Given the description of an element on the screen output the (x, y) to click on. 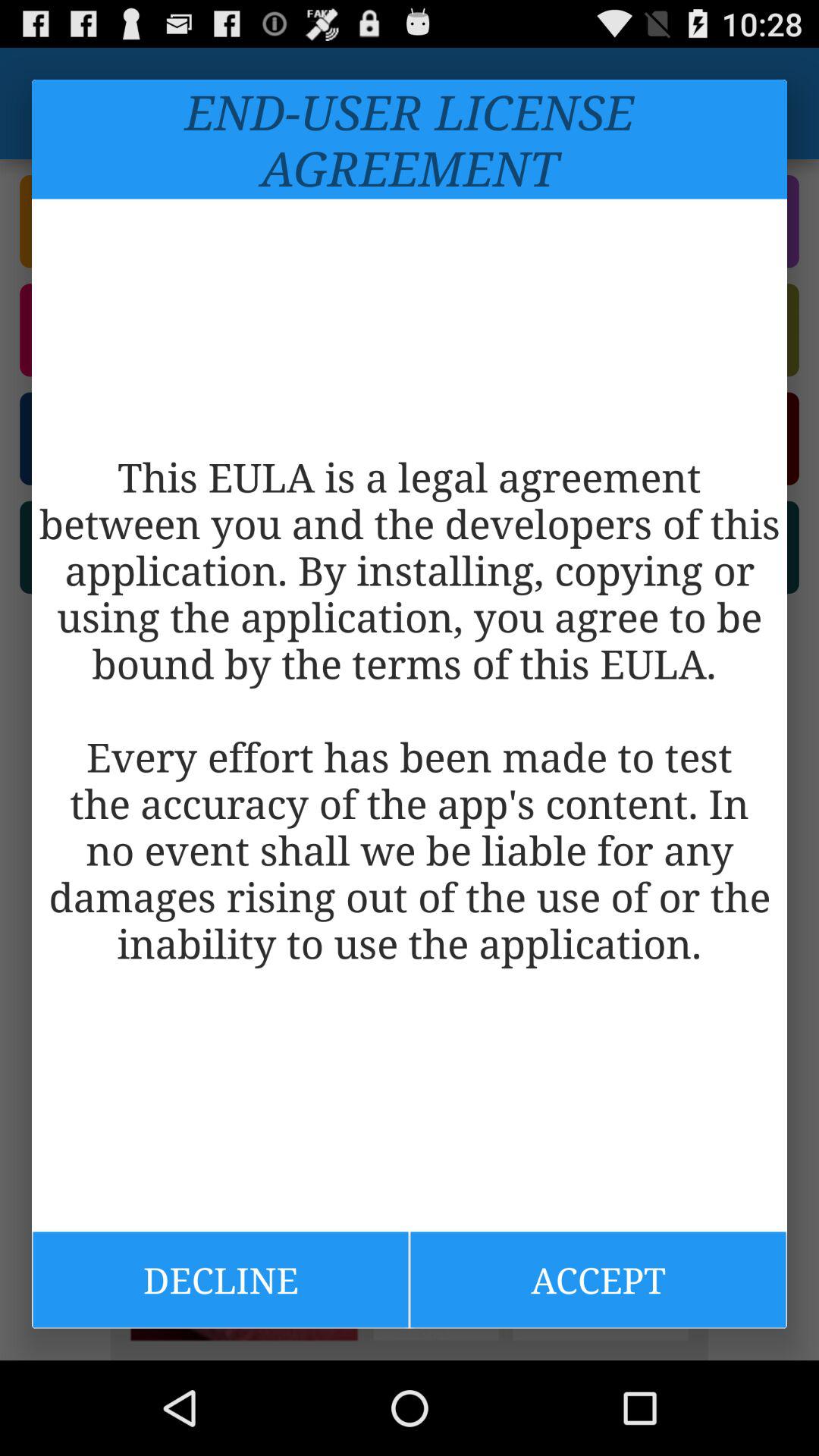
launch the item below the this eula is icon (220, 1279)
